Given the description of an element on the screen output the (x, y) to click on. 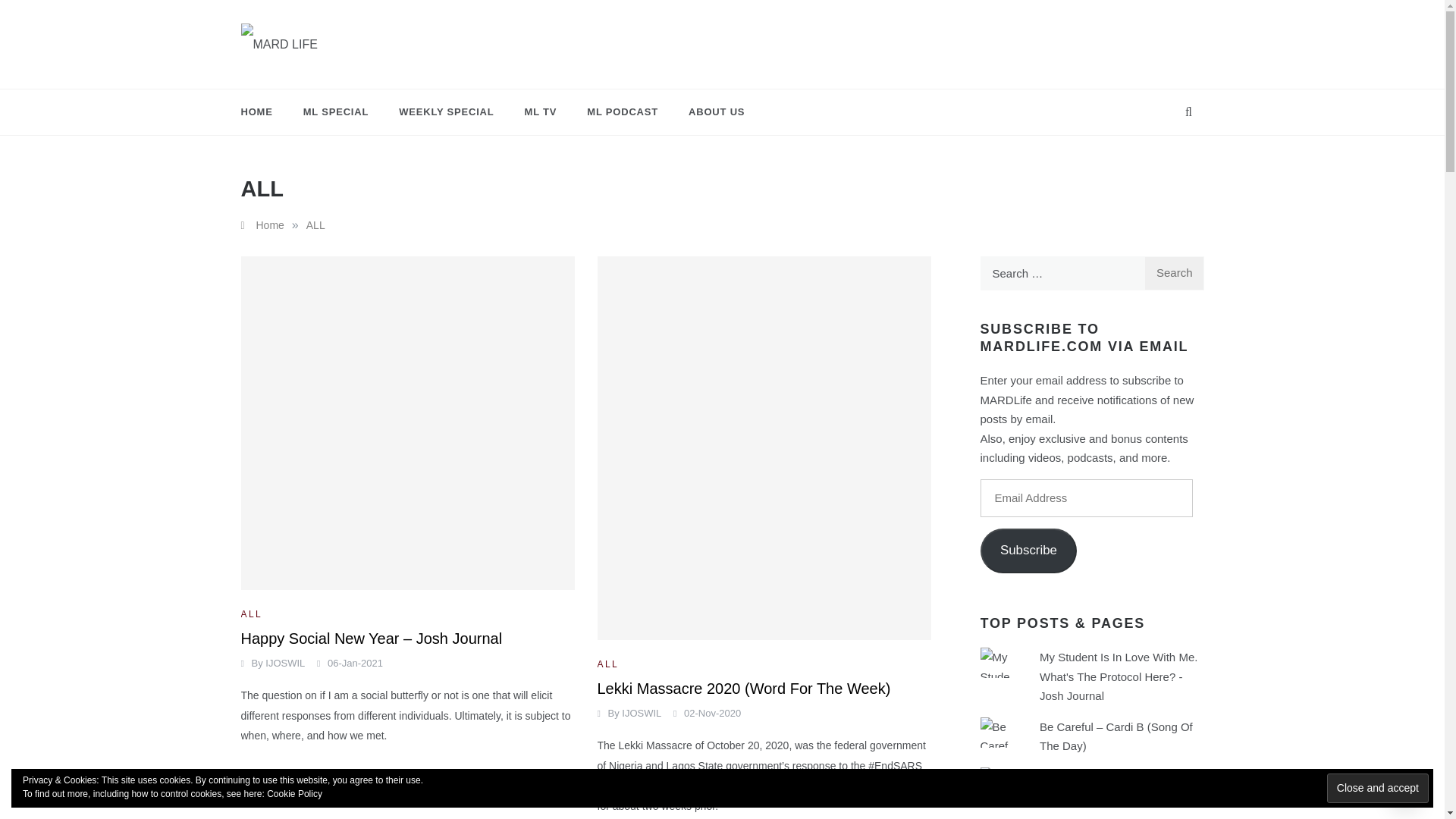
Search (1174, 273)
ML SPECIAL (336, 112)
Close and accept (1377, 788)
MARD LIFE (299, 78)
ML TV (1055, 776)
Go to Top (1405, 786)
Search (1174, 273)
HOME (264, 112)
